Given the description of an element on the screen output the (x, y) to click on. 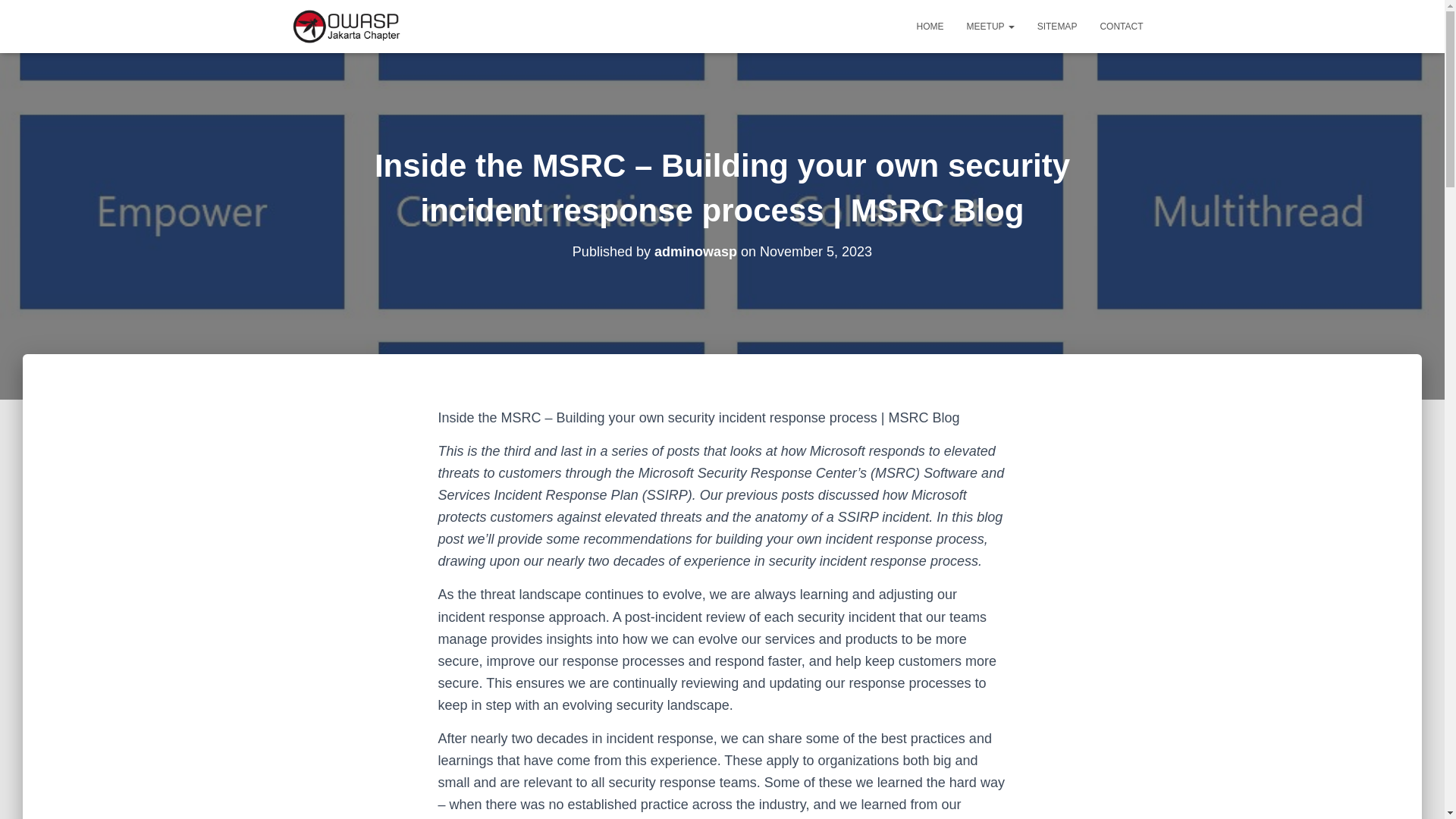
CONTACT (1120, 26)
Meetup (990, 26)
SITEMAP (1057, 26)
MEETUP (990, 26)
Home (930, 26)
Sitemap (1057, 26)
OWASP Jakarta (346, 26)
Contact (1120, 26)
adminowasp (694, 251)
HOME (930, 26)
